Given the description of an element on the screen output the (x, y) to click on. 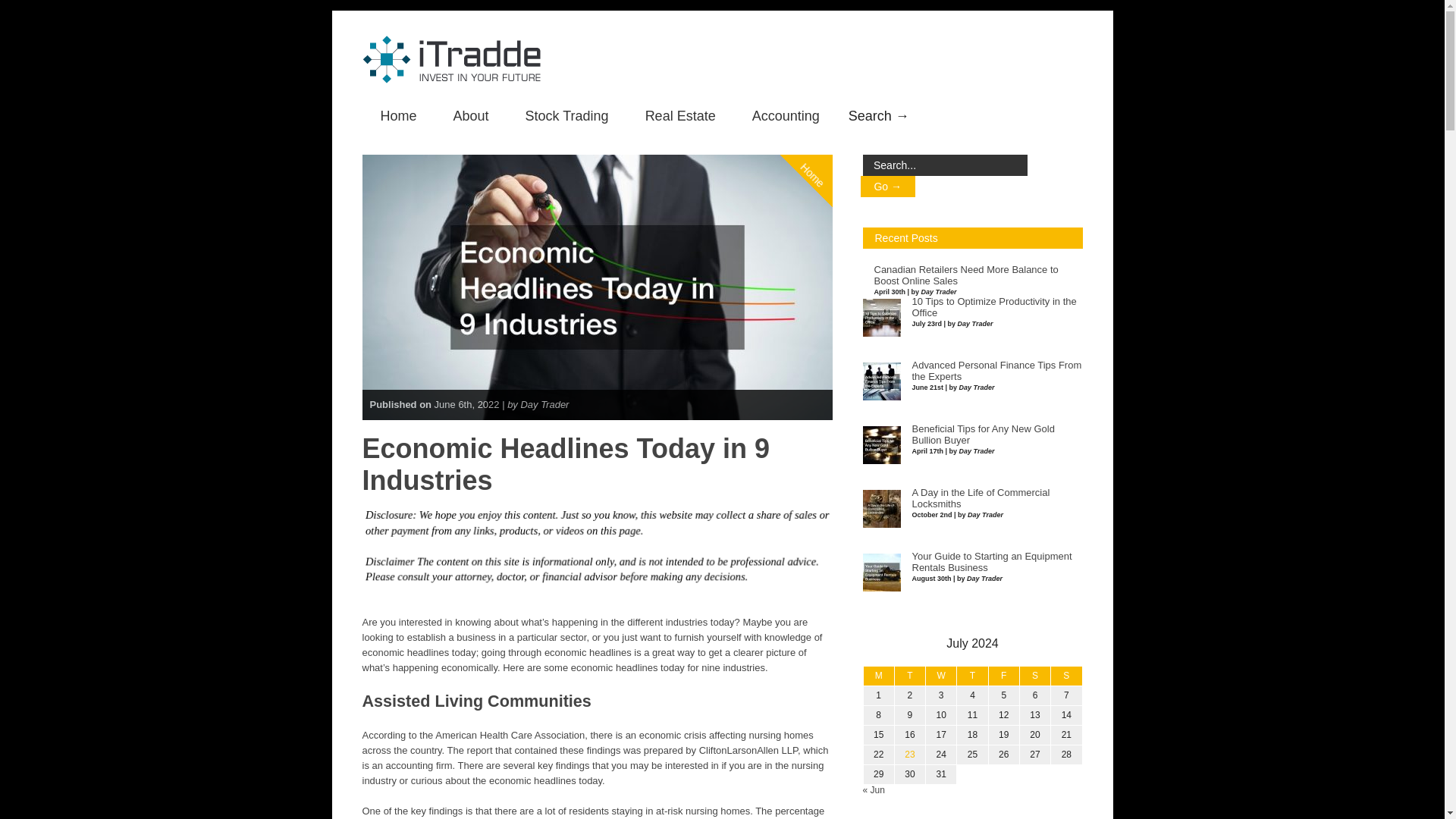
Advanced Personal Finance Tips From the Experts (996, 371)
Advanced Personal Finance Tips From the Experts (996, 371)
Stock Trading (566, 116)
Search... (945, 165)
Canadian Retailers Need More Balance to Boost Online Sales (965, 275)
10 Tips to Optimize Productivity in the Office (993, 307)
Search... (945, 165)
10 Tips to Optimize Productivity in the Office (993, 307)
Home (398, 116)
Assisted Living Communities (476, 700)
Real Estate (680, 116)
Accounting (785, 116)
Canadian Retailers Need More Balance to Boost Online Sales (965, 275)
About (470, 116)
Home (828, 113)
